Given the description of an element on the screen output the (x, y) to click on. 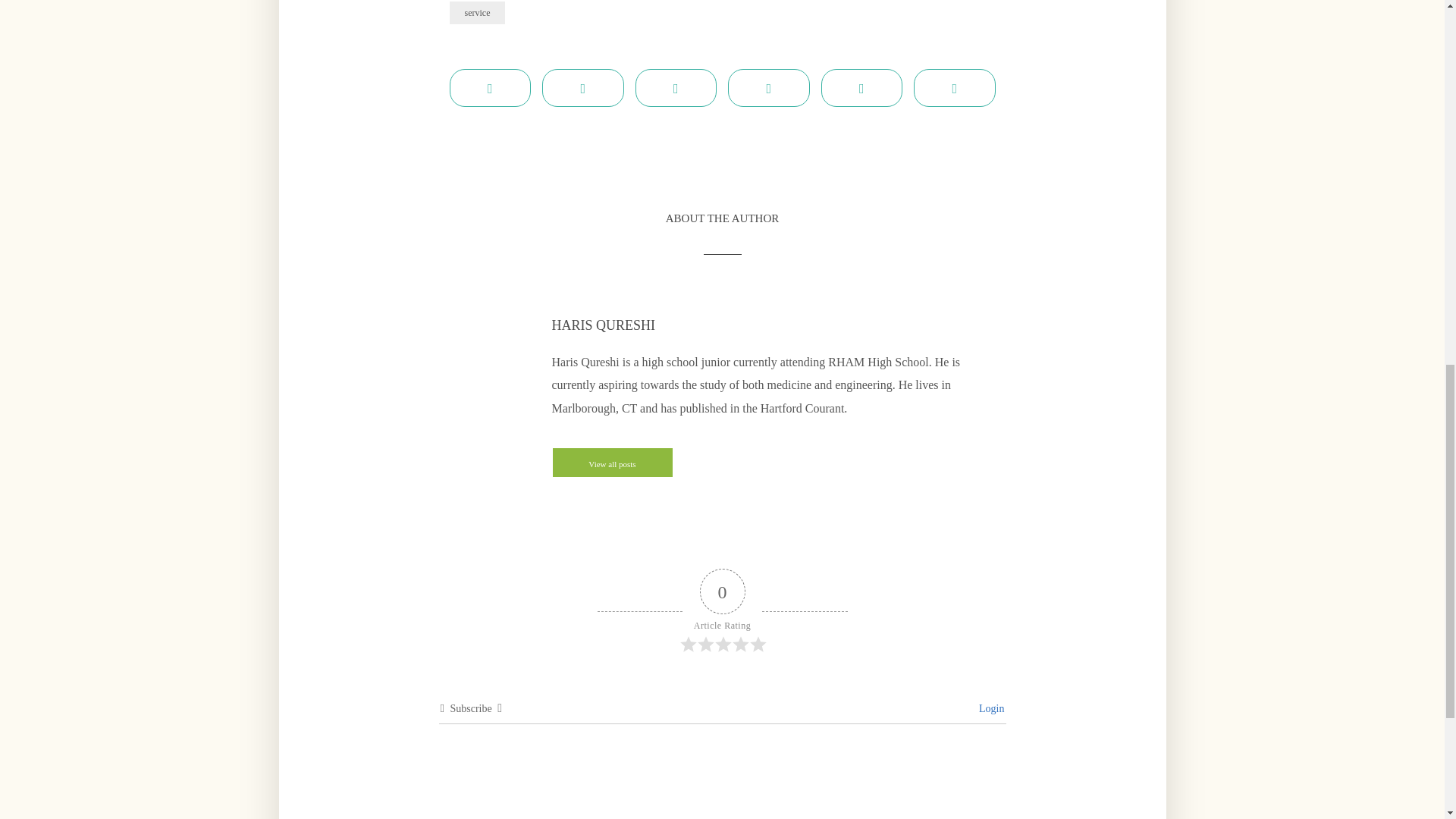
Login (989, 708)
View all posts (611, 462)
service (476, 12)
